Given the description of an element on the screen output the (x, y) to click on. 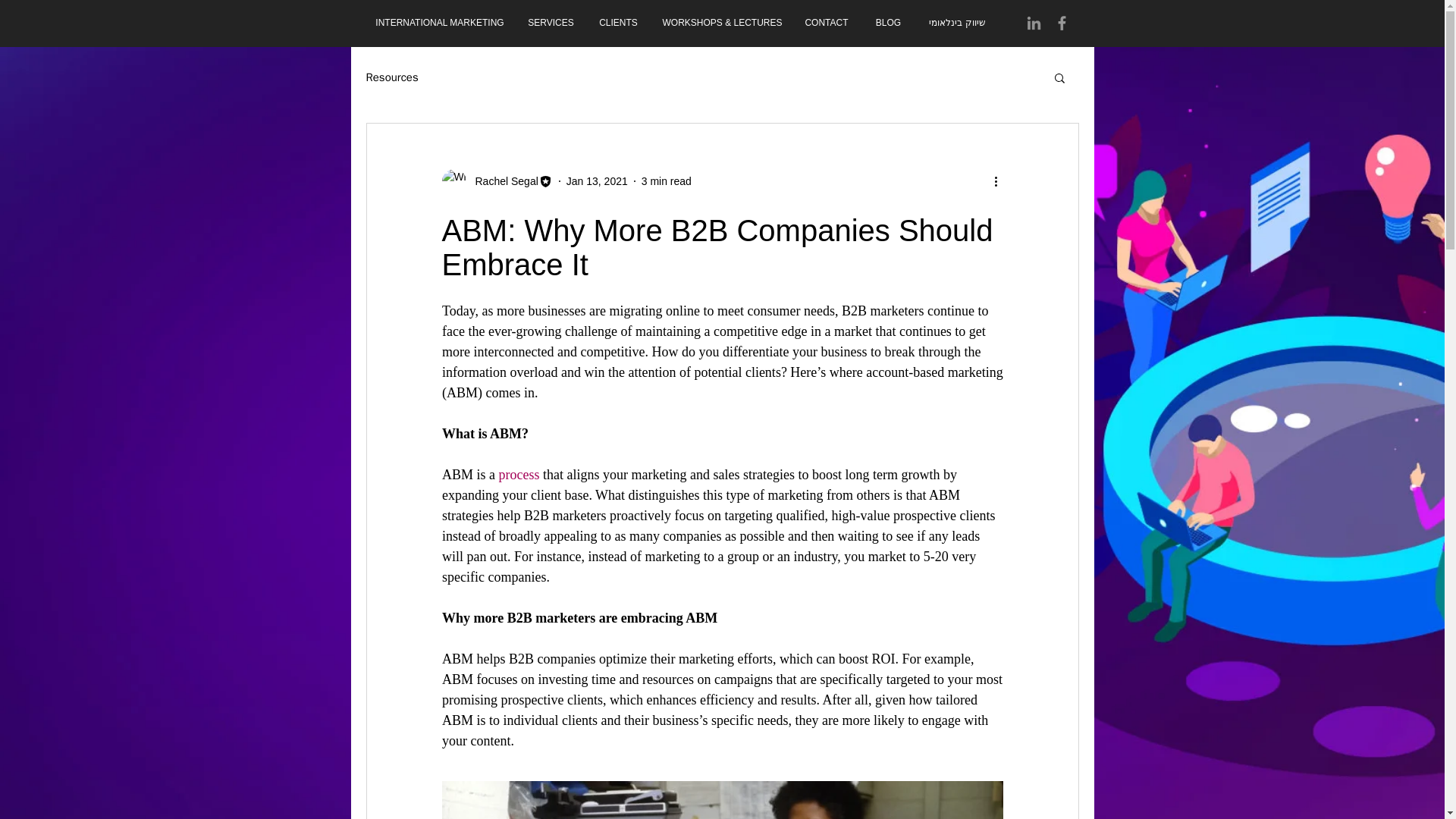
process (517, 474)
Resources (391, 76)
Rachel Segal (501, 180)
3 min read (666, 180)
INTERNATIONAL MARKETING (440, 22)
BLOG (887, 22)
CONTACT (826, 22)
CLIENTS (617, 22)
Jan 13, 2021 (596, 180)
SERVICES (550, 22)
